Given the description of an element on the screen output the (x, y) to click on. 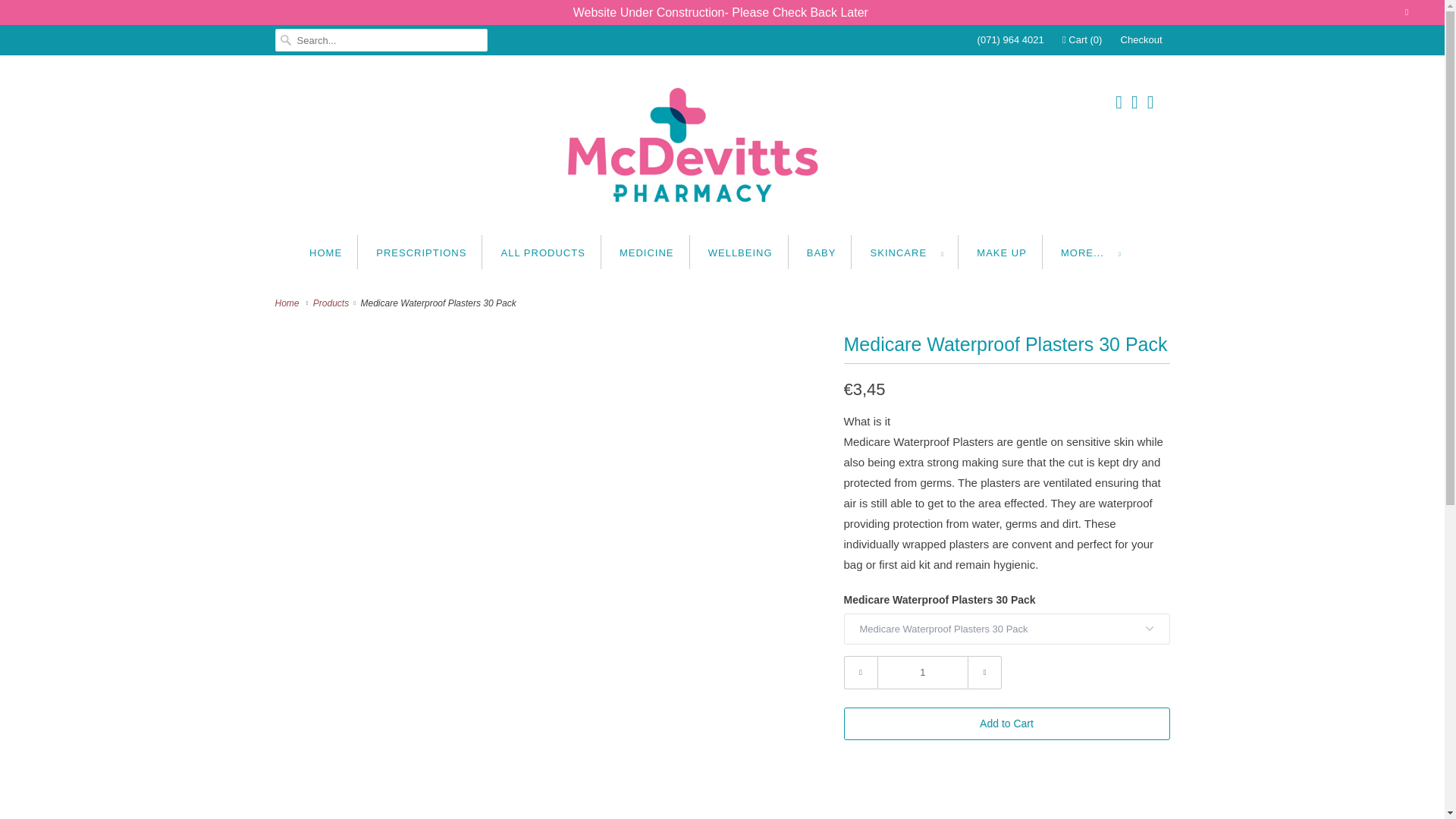
Products (332, 303)
BABY (820, 252)
MAKE UP (1001, 252)
1 (922, 672)
HOME (325, 252)
SKINCARE  (906, 252)
MORE...  (1090, 252)
Home (288, 303)
PRESCRIPTIONS (420, 252)
Mc Devitt's Pharmacy (722, 148)
Add to Cart (1006, 723)
Checkout (1141, 39)
MEDICINE (647, 252)
Mc Devitt's Pharmacy (288, 303)
